Given the description of an element on the screen output the (x, y) to click on. 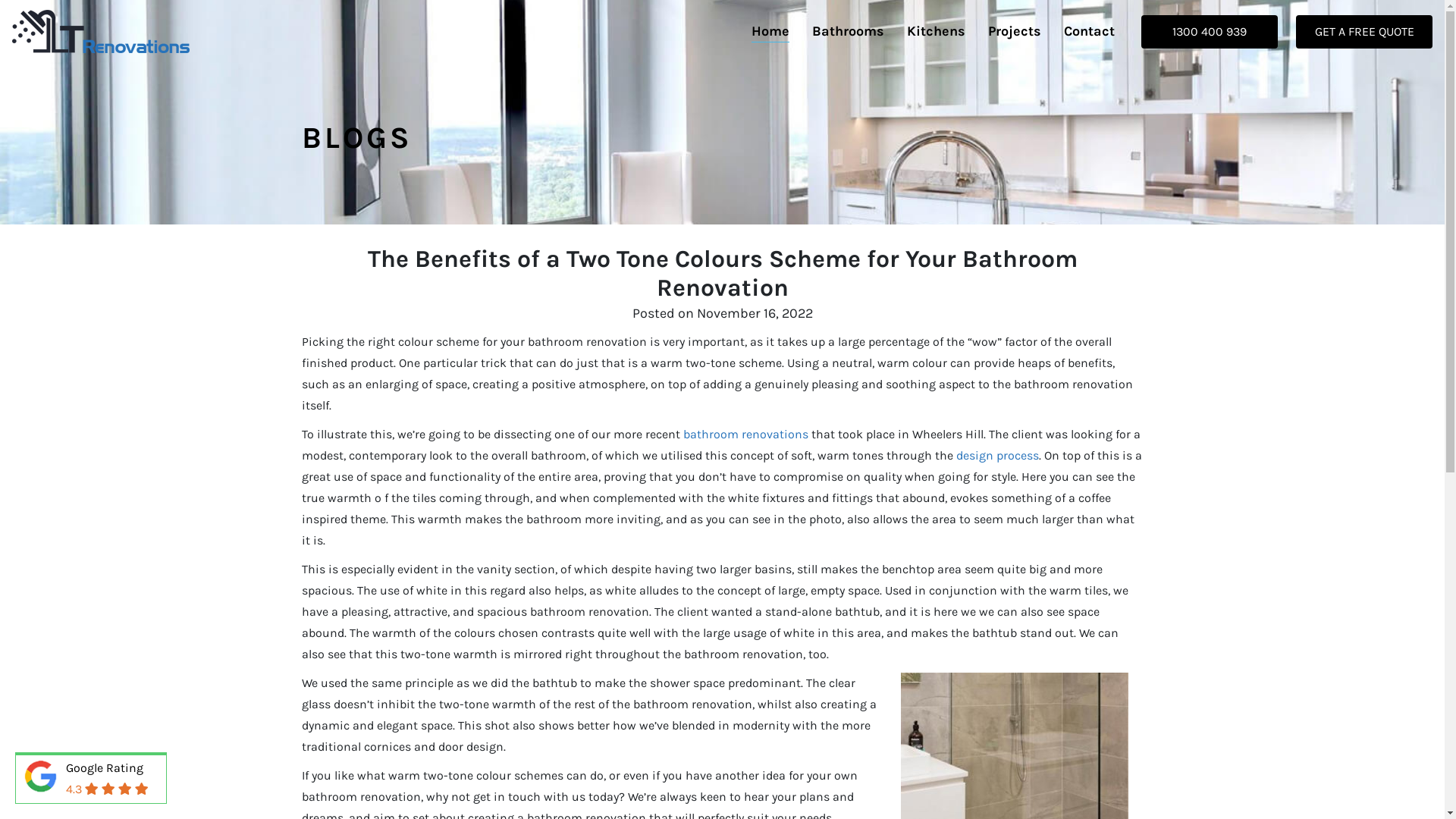
design process Element type: text (996, 455)
Contact Element type: text (1088, 31)
Bathrooms Element type: text (848, 31)
Kitchens Element type: text (935, 31)
GET A FREE QUOTE Element type: text (1363, 31)
1300 400 939 Element type: text (1209, 31)
bathroom renovations Element type: text (744, 433)
Google Rating
4.3 Element type: text (90, 779)
Home Element type: text (770, 31)
Projects Element type: text (1014, 31)
